Given the description of an element on the screen output the (x, y) to click on. 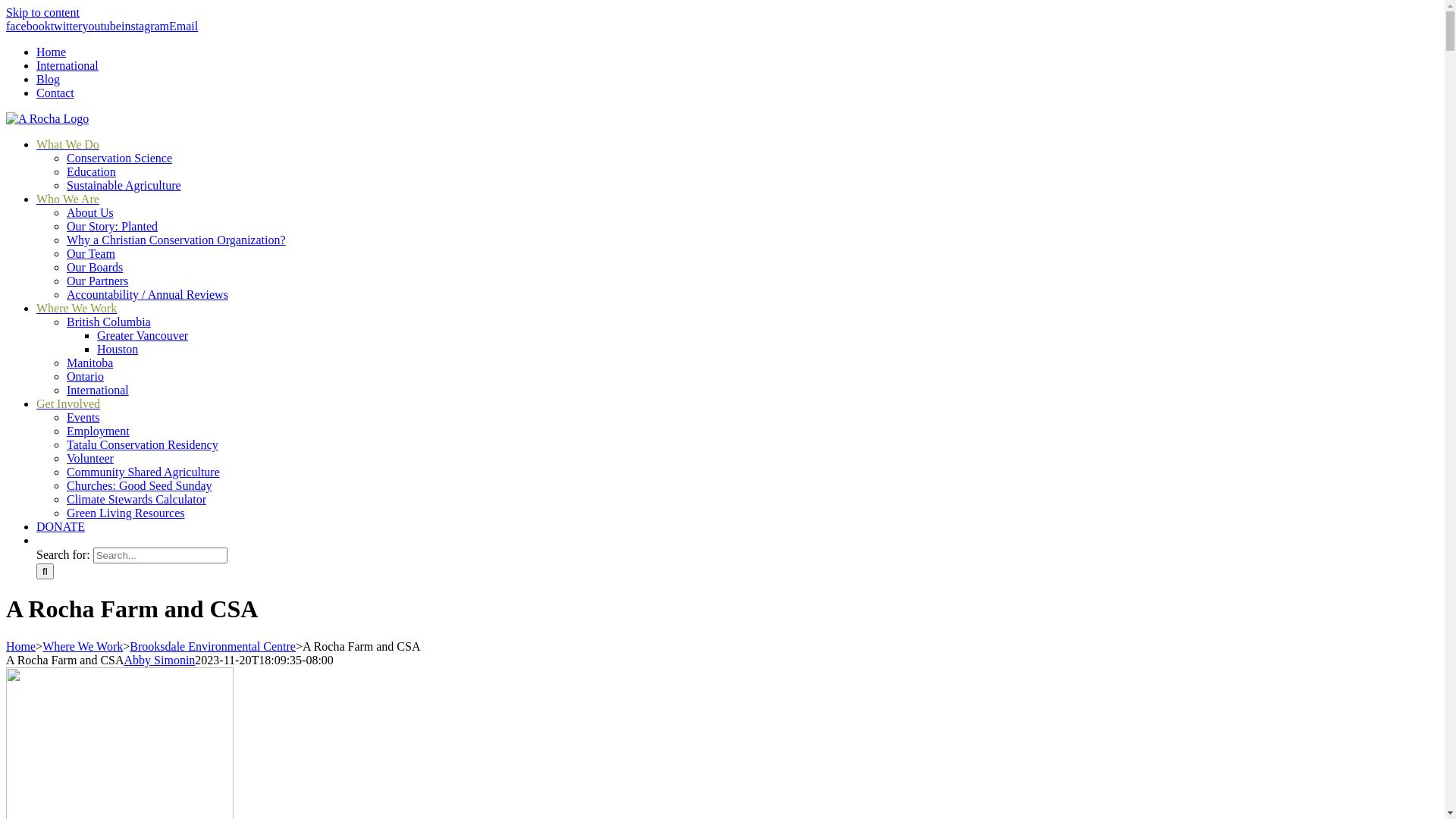
Abby Simonin Element type: text (159, 659)
DONATE Element type: text (60, 526)
About Us Element type: text (89, 212)
instagram Element type: text (145, 25)
Our Team Element type: text (90, 253)
International Element type: text (67, 65)
International Element type: text (97, 389)
Skip to content Element type: text (42, 12)
Where We Work Element type: text (76, 307)
Education Element type: text (91, 171)
facebook Element type: text (28, 25)
Greater Vancouver Element type: text (142, 335)
Our Partners Element type: text (97, 280)
Where We Work Element type: text (82, 646)
twitter Element type: text (66, 25)
Sustainable Agriculture Element type: text (123, 184)
Community Shared Agriculture Element type: text (142, 471)
Manitoba Element type: text (89, 362)
Our Story: Planted Element type: text (111, 225)
British Columbia Element type: text (108, 321)
Houston Element type: text (117, 348)
Contact Element type: text (55, 92)
youtube Element type: text (101, 25)
Climate Stewards Calculator Element type: text (136, 498)
Conservation Science Element type: text (119, 157)
Home Element type: text (50, 51)
Employment Element type: text (97, 430)
Blog Element type: text (47, 78)
Churches: Good Seed Sunday Element type: text (139, 485)
Get Involved Element type: text (68, 403)
Home Element type: text (20, 646)
Volunteer Element type: text (89, 457)
Brooksdale Environmental Centre Element type: text (212, 646)
Our Boards Element type: text (94, 266)
Accountability / Annual Reviews Element type: text (147, 294)
Tatalu Conservation Residency Element type: text (142, 444)
Green Living Resources Element type: text (125, 512)
Email Element type: text (183, 25)
What We Do Element type: text (67, 144)
Who We Are Element type: text (67, 198)
Ontario Element type: text (84, 376)
Why a Christian Conservation Organization? Element type: text (175, 239)
Events Element type: text (83, 417)
